Given the description of an element on the screen output the (x, y) to click on. 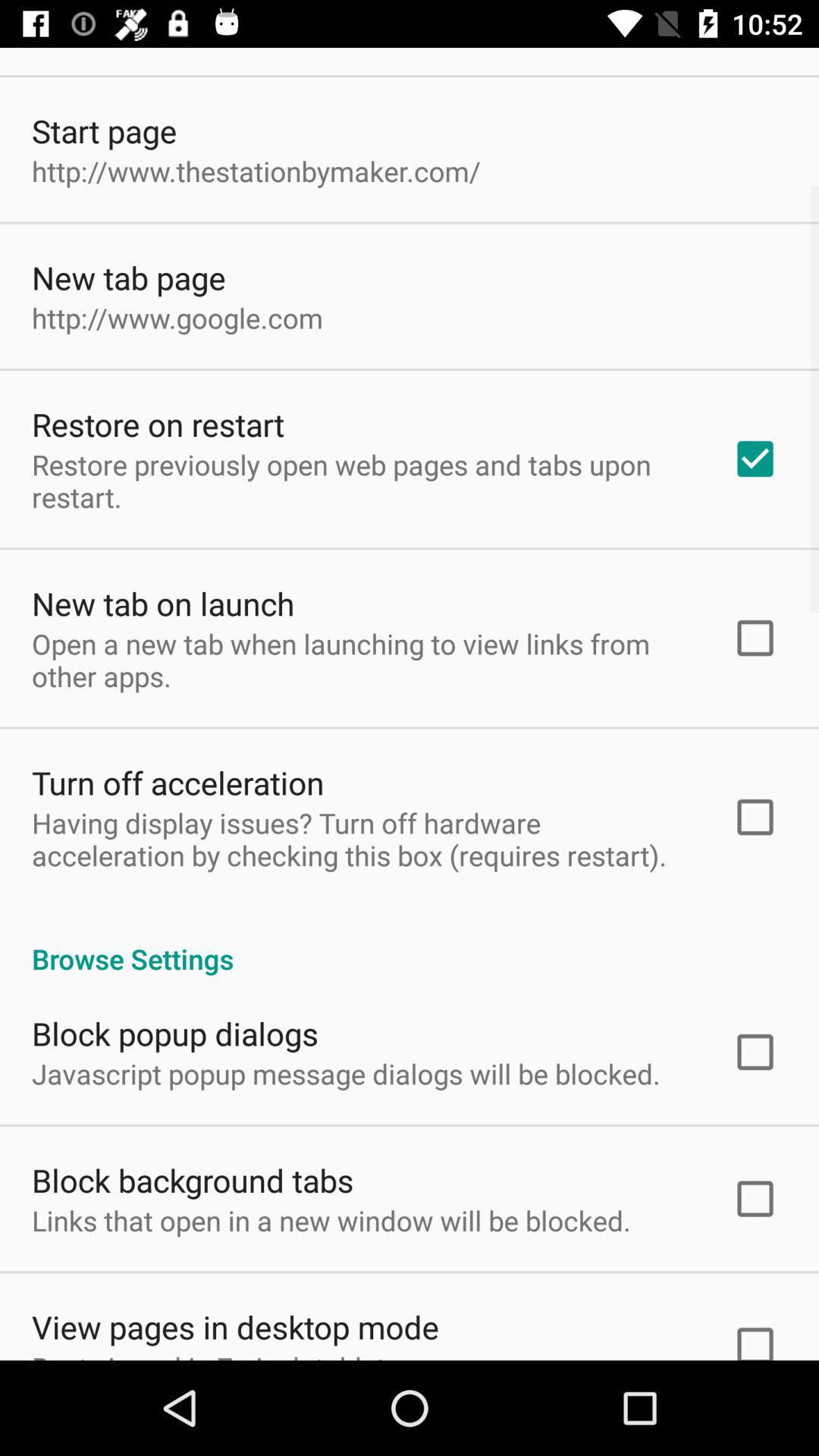
launch start page icon (103, 130)
